Given the description of an element on the screen output the (x, y) to click on. 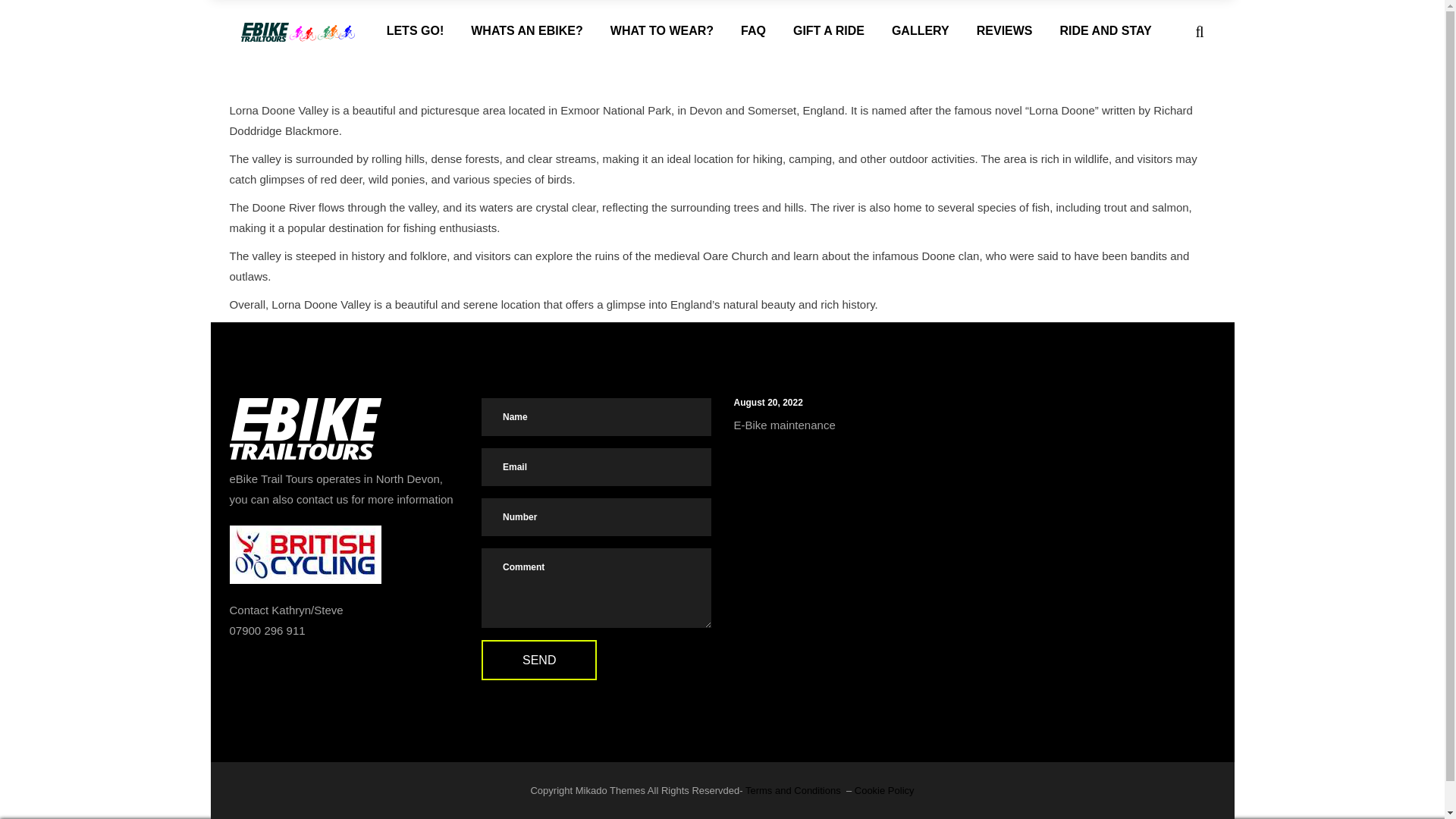
WHATS AN EBIKE? (526, 31)
GIFT A RIDE (827, 31)
REVIEWS (1004, 31)
E-Bike maintenance (784, 424)
Send (538, 659)
WHAT TO WEAR? (661, 31)
LETS GO! (415, 31)
RIDE AND STAY (1106, 31)
GALLERY (919, 31)
